Given the description of an element on the screen output the (x, y) to click on. 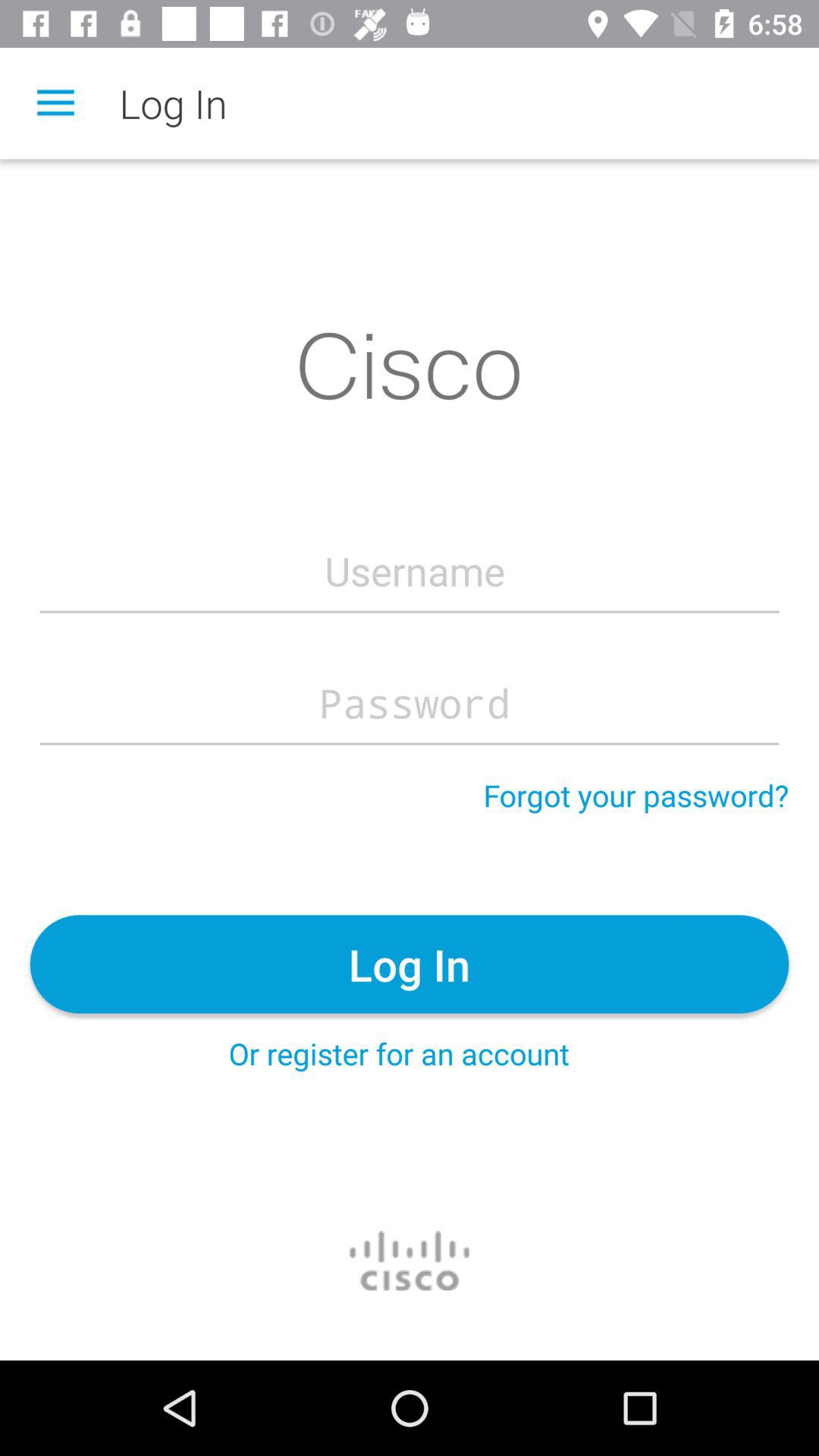
flip until or register for icon (398, 1053)
